Given the description of an element on the screen output the (x, y) to click on. 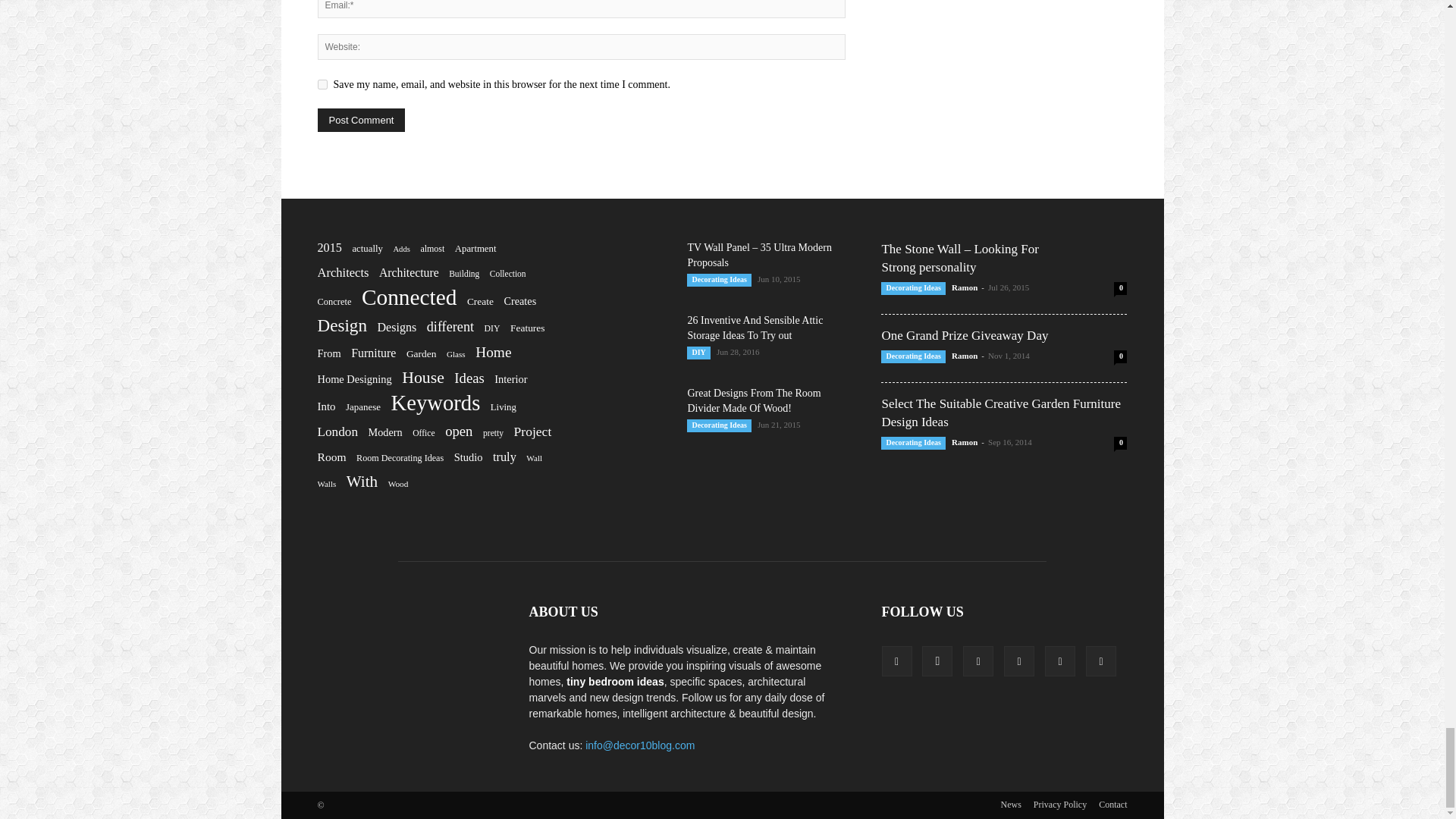
Post Comment (360, 119)
yes (321, 84)
